Given the description of an element on the screen output the (x, y) to click on. 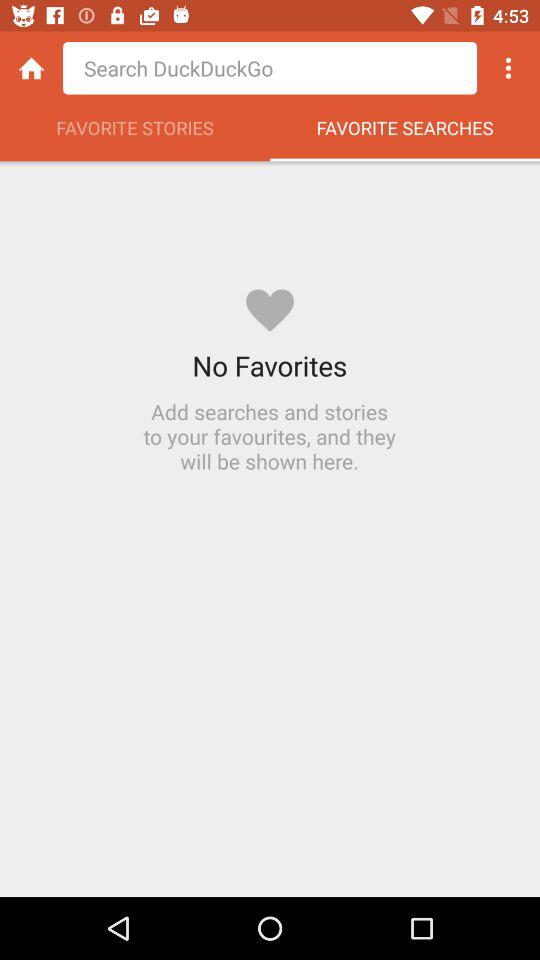
search (270, 68)
